Given the description of an element on the screen output the (x, y) to click on. 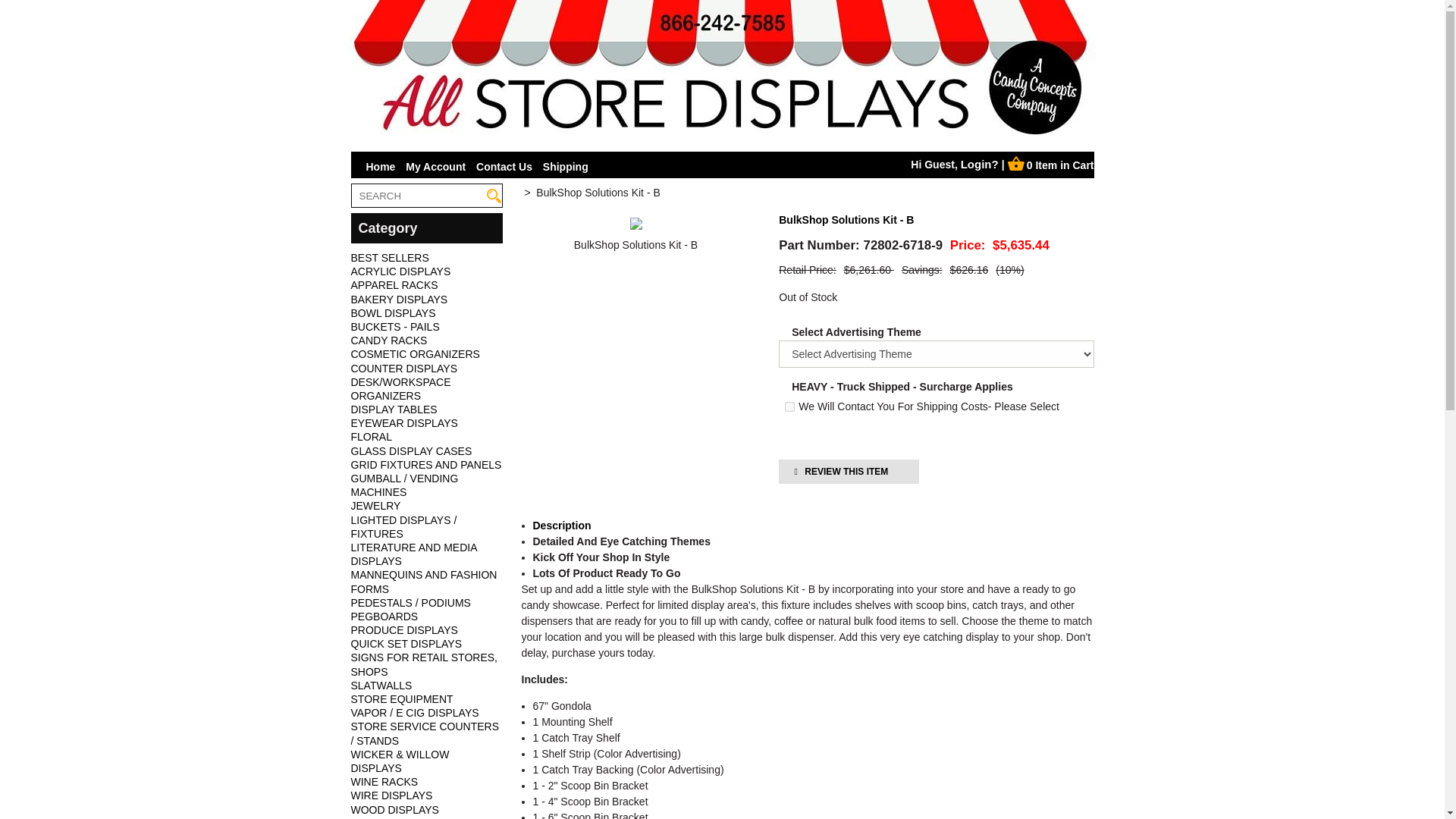
EYEWEAR DISPLAYS (403, 422)
Contact Us (503, 166)
JEWELRY (375, 505)
Home (380, 166)
MANNEQUINS AND FASHION FORMS (423, 581)
QUICK SET DISPLAYS (405, 644)
STORE EQUIPMENT (401, 698)
Shipping (565, 166)
ACRYLIC DISPLAYS (399, 271)
BOWL DISPLAYS (392, 313)
GLASS DISPLAY CASES (410, 451)
APPAREL RACKS (394, 285)
5347 (789, 406)
PRODUCE DISPLAYS (403, 630)
BulkShop Solutions Kit - B  (636, 245)
